Given the description of an element on the screen output the (x, y) to click on. 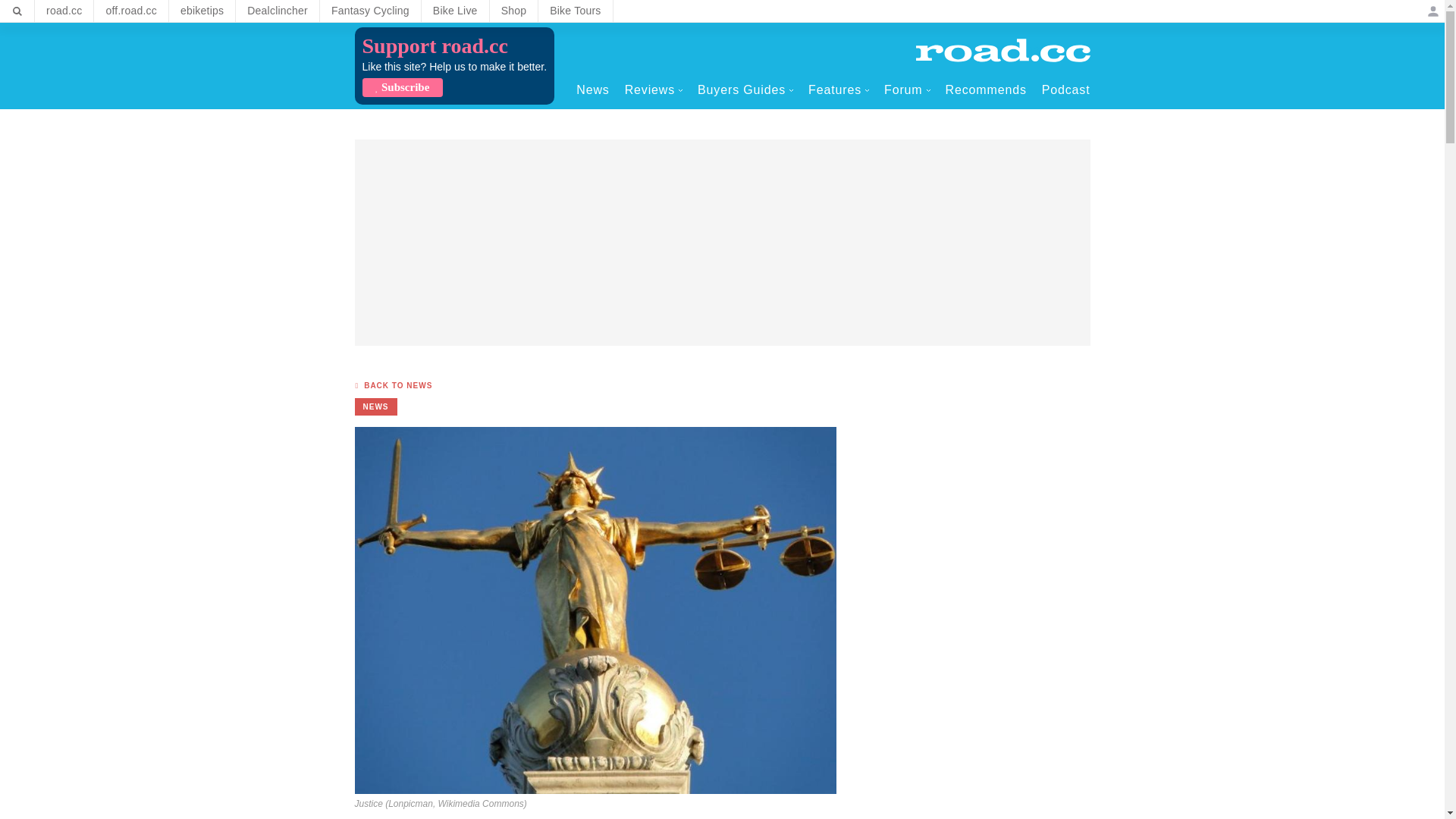
Fantasy Cycling (370, 11)
Dealclincher (276, 11)
Bike Live (455, 11)
Bike Tours (574, 11)
Home (1002, 50)
Subscribe (402, 87)
ebiketips (201, 11)
Reviews (653, 89)
road.cc (63, 11)
off.road.cc (131, 11)
